Given the description of an element on the screen output the (x, y) to click on. 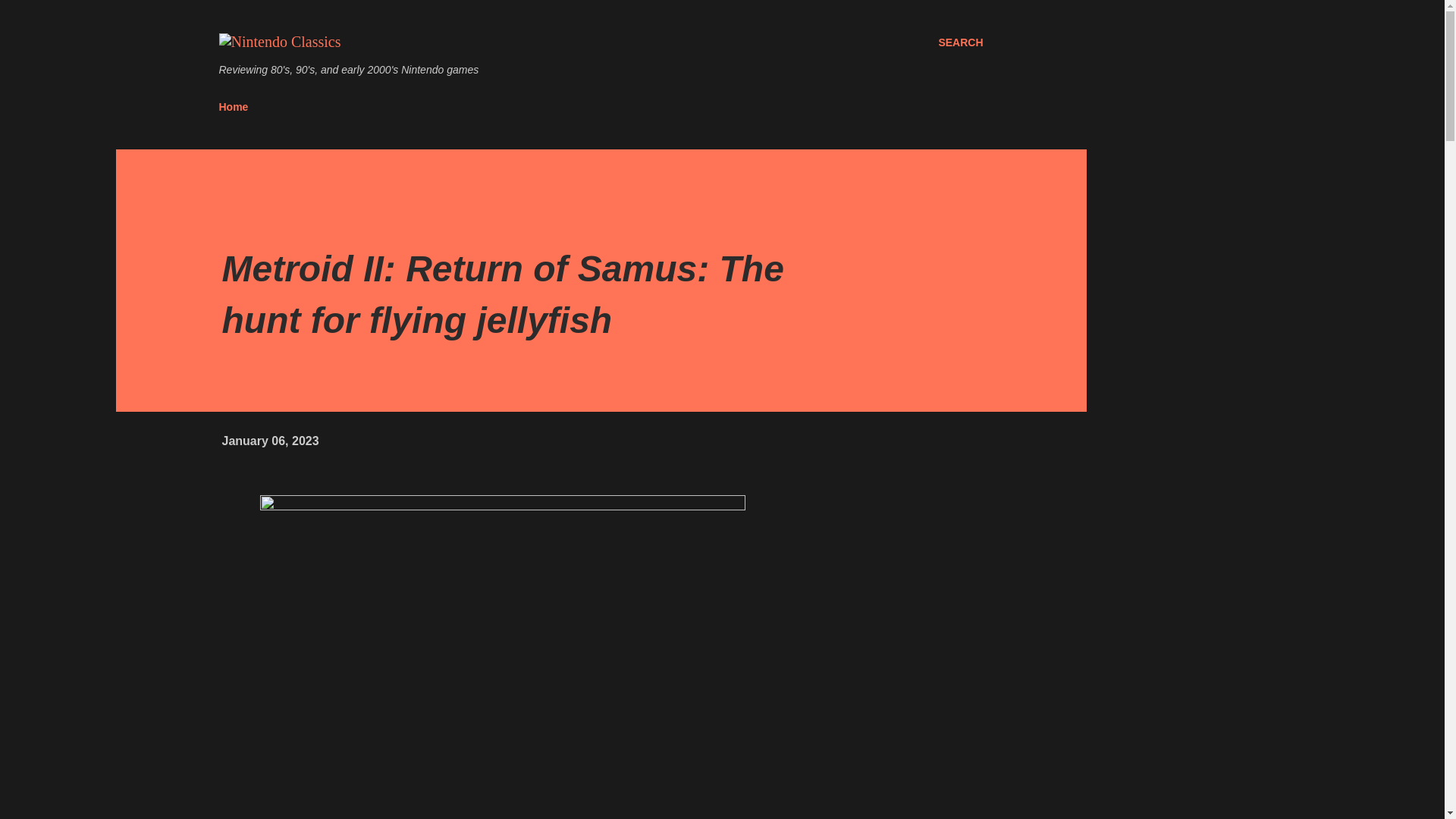
permanent link (269, 440)
Home (237, 106)
January 06, 2023 (269, 440)
SEARCH (959, 42)
